Given the description of an element on the screen output the (x, y) to click on. 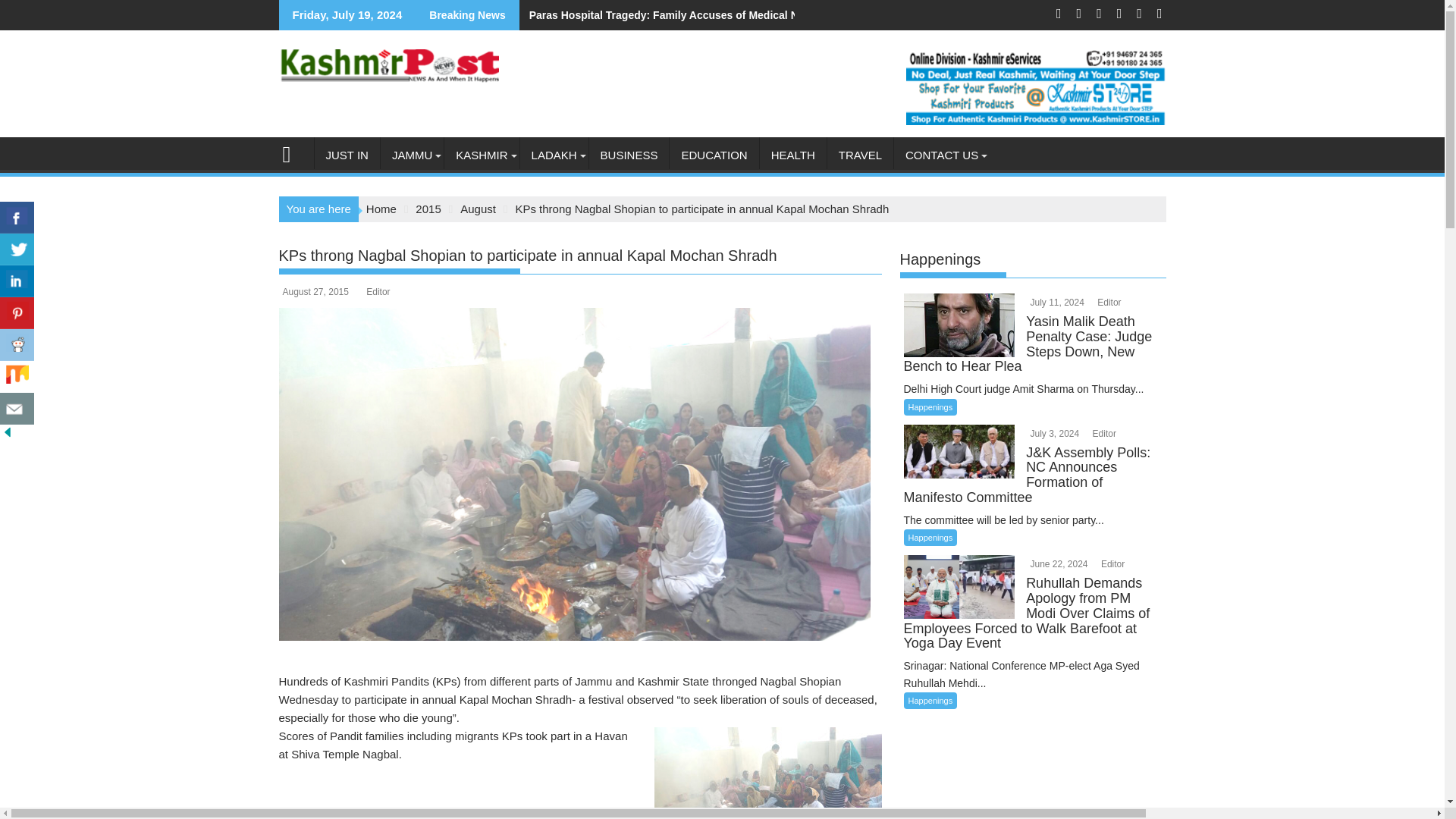
JAMMU (412, 155)
Paras Hospital Tragedy: Family Accuses of Medical Negligence (683, 15)
JUST IN (346, 155)
KASHMIR (481, 155)
Paras Hospital Tragedy: Family Accuses of Medical Negligence (683, 15)
Kashmir POST (293, 152)
